Given the description of an element on the screen output the (x, y) to click on. 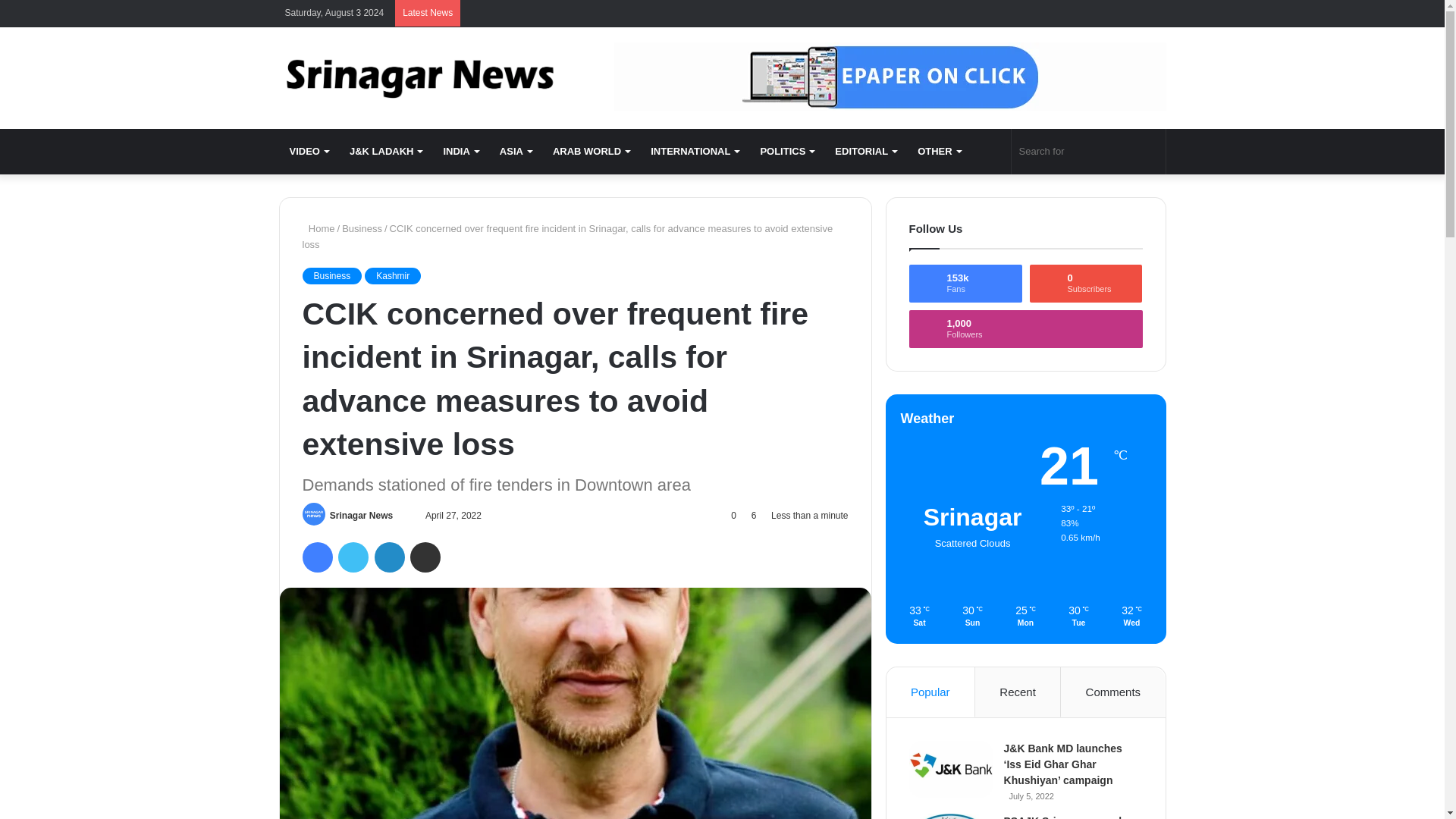
Srinagar News (361, 515)
OTHER (939, 151)
ARAB WORLD (590, 151)
Srinagar News (419, 77)
INDIA (459, 151)
POLITICS (786, 151)
ASIA (515, 151)
Twitter (352, 557)
Search for (1088, 151)
LinkedIn (389, 557)
EDITORIAL (865, 151)
INTERNATIONAL (694, 151)
VIDEO (309, 151)
Facebook (316, 557)
